Given the description of an element on the screen output the (x, y) to click on. 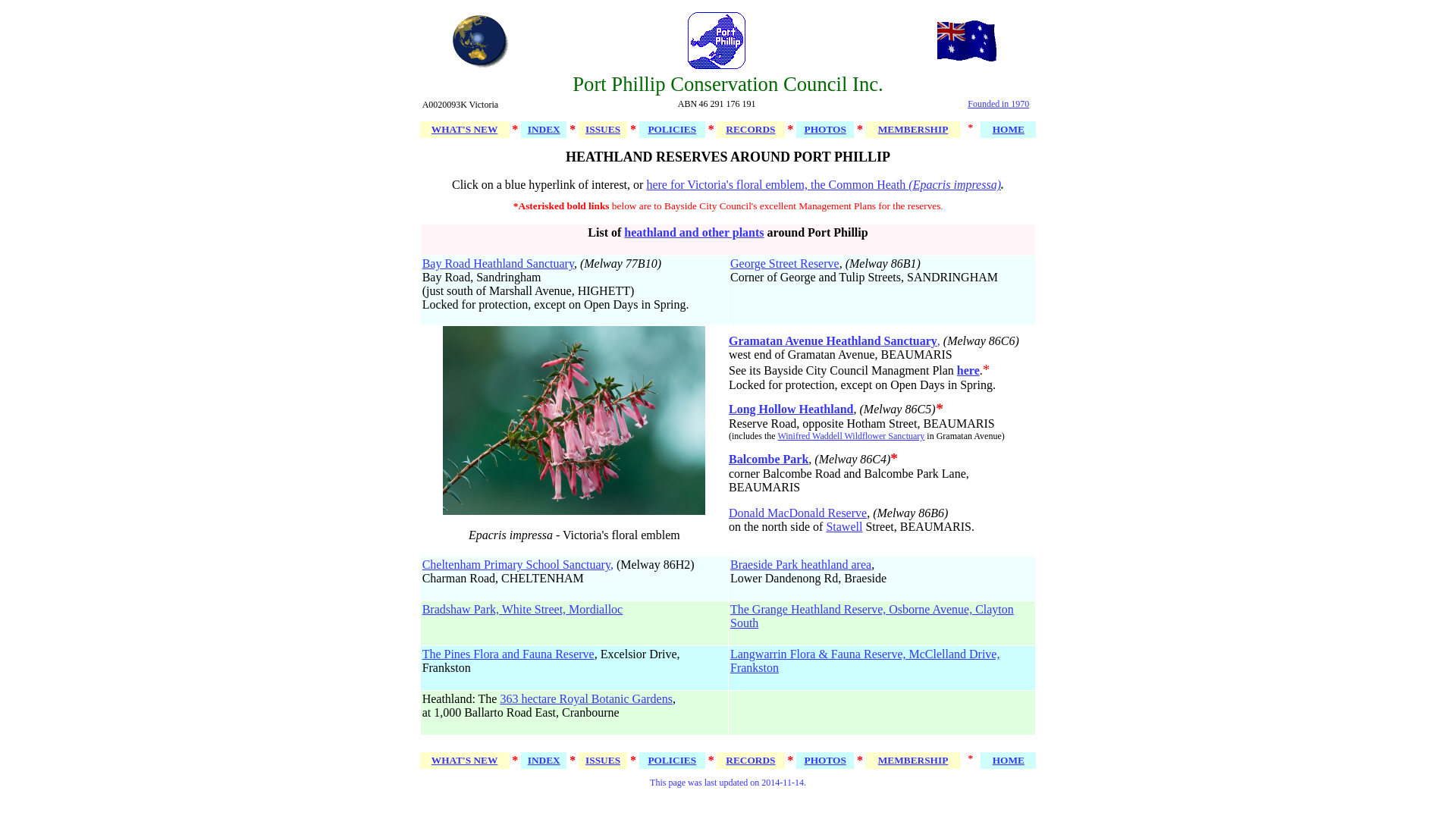
Cheltenham Primary School Sanctuary, Element type: text (517, 564)
George Street Reserve Element type: text (784, 263)
The Grange Heathland Reserve, Osborne Avenue, Clayton South Element type: text (871, 615)
RECORDS Element type: text (750, 128)
POLICIES Element type: text (671, 128)
RECORDS Element type: text (750, 759)
363 hectare Royal Botanic Gardens Element type: text (585, 698)
Bradshaw Park, White Street, Mordialloc Element type: text (522, 608)
HOME Element type: text (1008, 759)
HOME Element type: text (1008, 128)
Stawell Element type: text (843, 526)
Winifred Waddell Wildflower Sanctuary Element type: text (850, 435)
Park heathland area Element type: text (821, 564)
PHOTOS Element type: text (824, 128)
Gramatan Avenue Heathland Sanctuary, Element type: text (834, 340)
INDEX Element type: text (543, 759)
ISSUES Element type: text (602, 128)
Balcombe Park Element type: text (768, 458)
PHOTOS Element type: text (824, 759)
MEMBERSHIP Element type: text (913, 128)
Braeside Element type: text (751, 564)
The Pines Flora and Fauna Reserve Element type: text (508, 653)
Founded in 1970 Element type: text (998, 104)
Donald MacDonald Reserve Element type: text (797, 512)
Long Hollow Heathland Element type: text (790, 408)
ISSUES Element type: text (602, 759)
heathland and other plants Element type: text (693, 231)
MEMBERSHIP Element type: text (913, 759)
Bay Road Heathland Sanctuary Element type: text (498, 263)
POLICIES Element type: text (671, 759)
WHAT'S NEW Element type: text (464, 128)
INDEX Element type: text (543, 128)
WHAT'S NEW Element type: text (464, 759)
here Element type: text (968, 370)
